Given the description of an element on the screen output the (x, y) to click on. 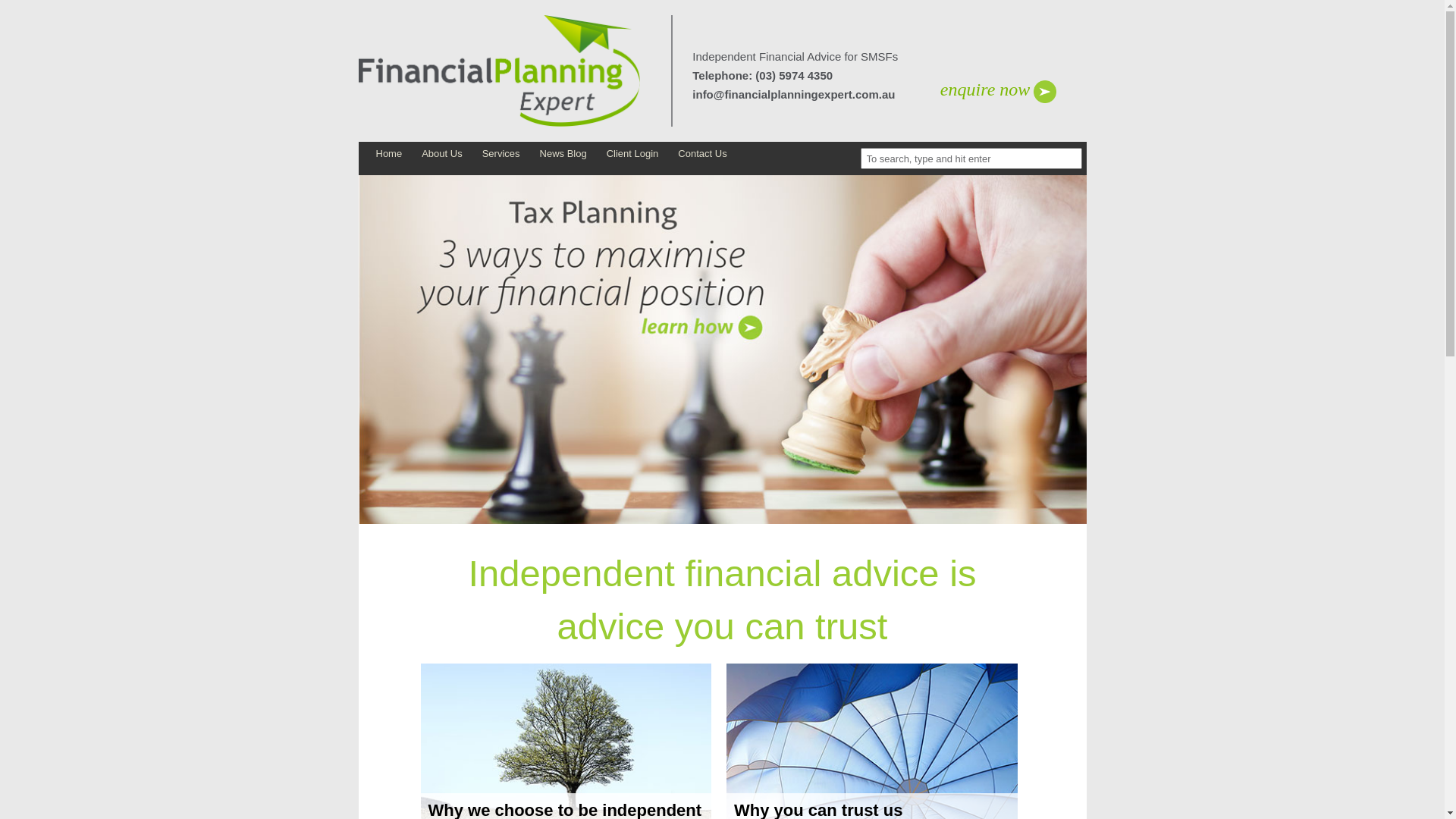
Contact Us Element type: text (702, 153)
enquire now Element type: text (984, 90)
info@financialplanningexpert.com.au Element type: text (793, 93)
Search Element type: text (106, 8)
Home Element type: text (388, 153)
News Blog Element type: text (563, 153)
About Us Element type: text (441, 153)
(03) 5974 4350 Element type: text (792, 75)
Client Login Element type: text (632, 153)
Services Element type: text (501, 153)
